Given the description of an element on the screen output the (x, y) to click on. 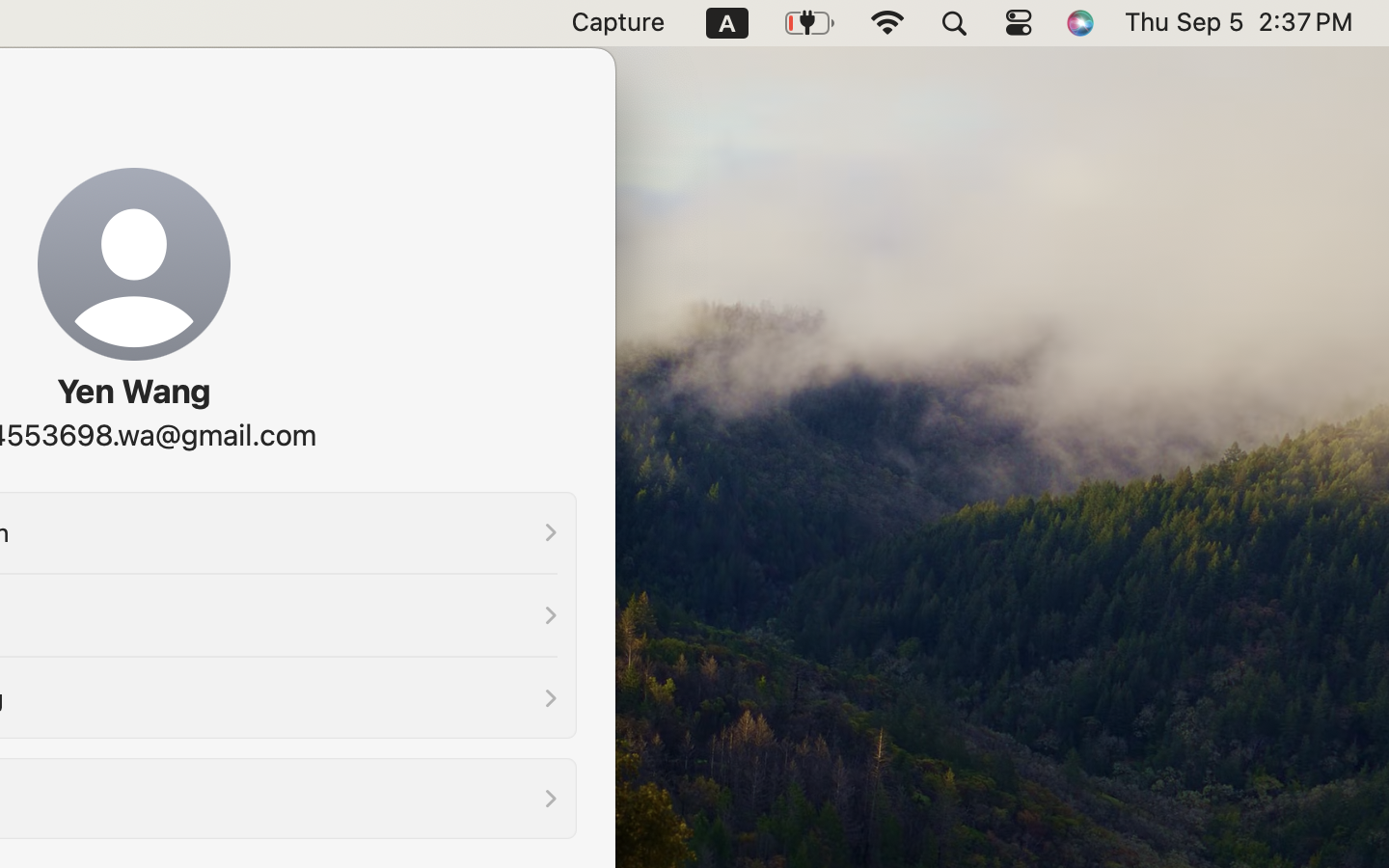
Yen Wang Element type: AXStaticText (132, 391)
